Given the description of an element on the screen output the (x, y) to click on. 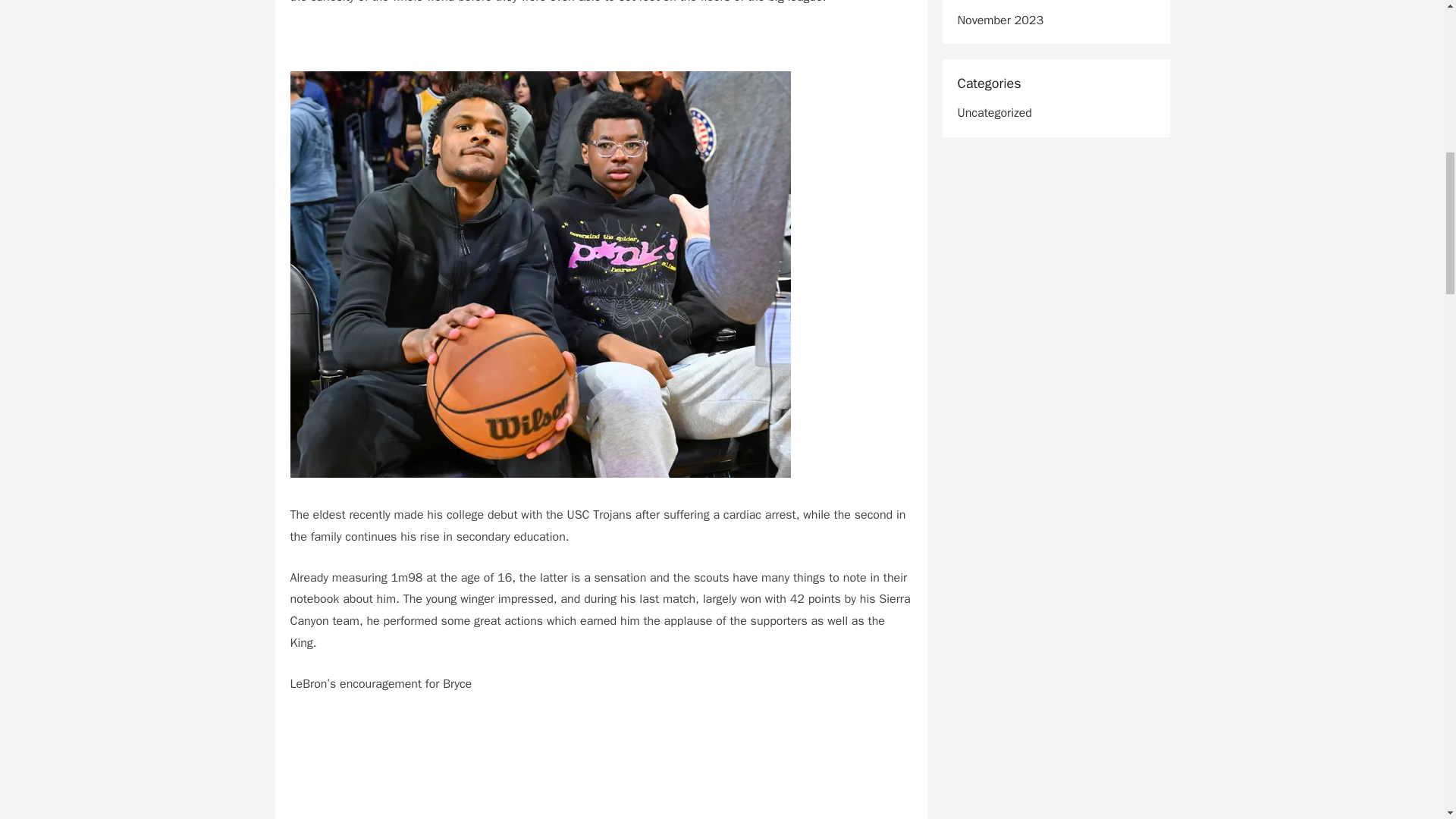
X Post (600, 766)
Advertisement (600, 40)
